Given the description of an element on the screen output the (x, y) to click on. 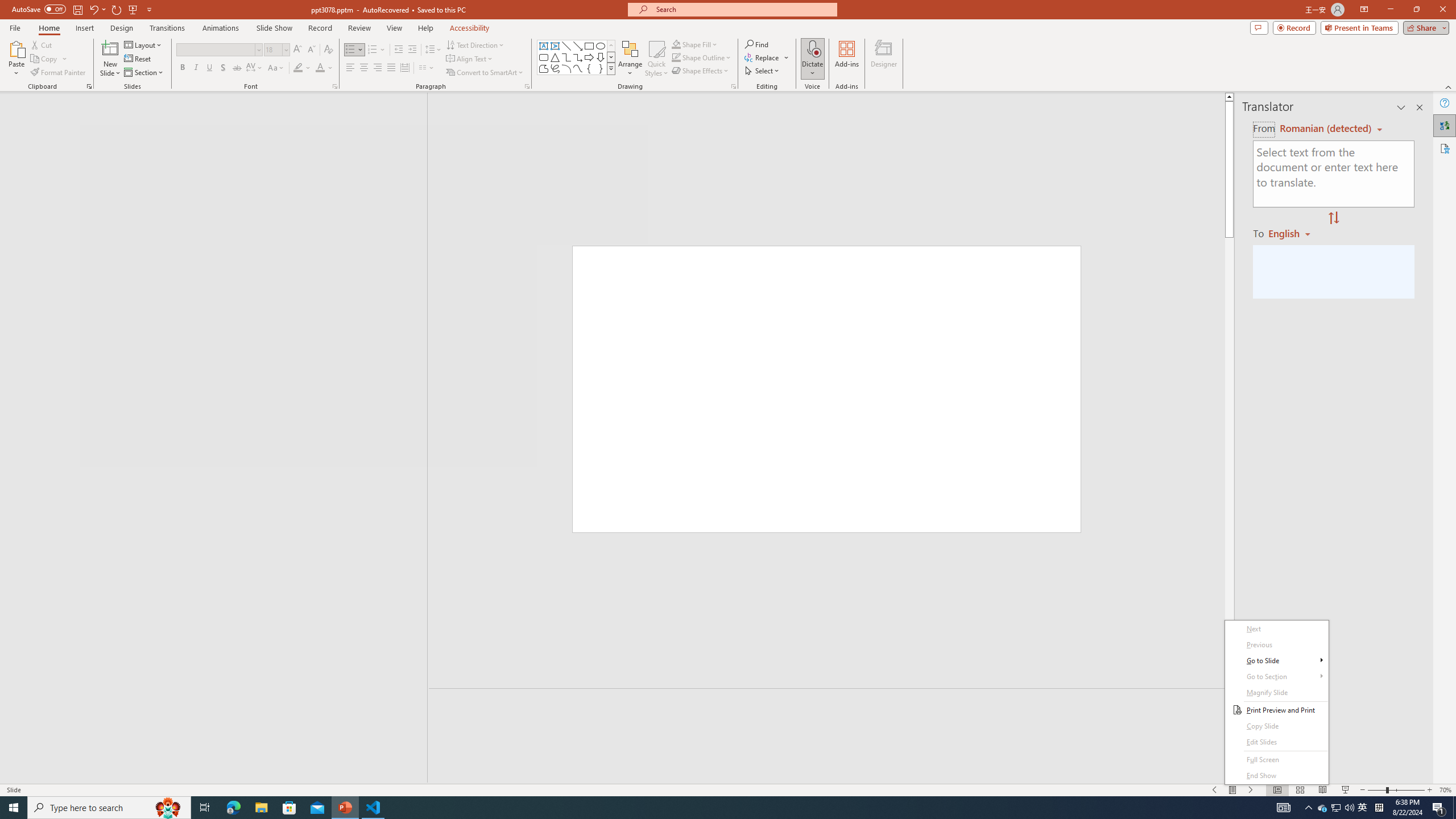
Print Preview and Print (1276, 710)
Previous (1276, 644)
Romanian (detected) (1323, 128)
Microsoft Edge (233, 807)
